Given the description of an element on the screen output the (x, y) to click on. 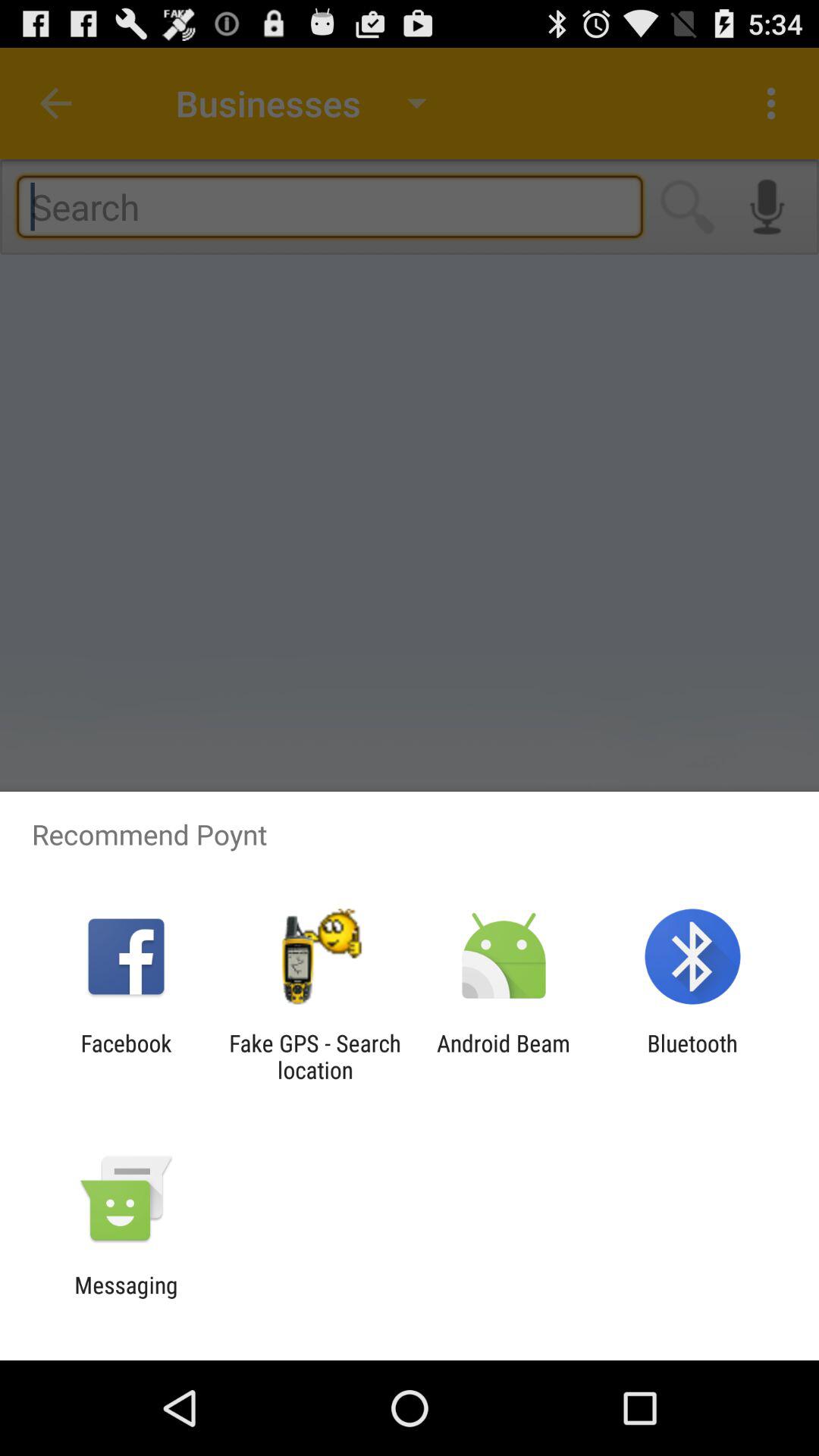
swipe until the bluetooth item (692, 1056)
